Given the description of an element on the screen output the (x, y) to click on. 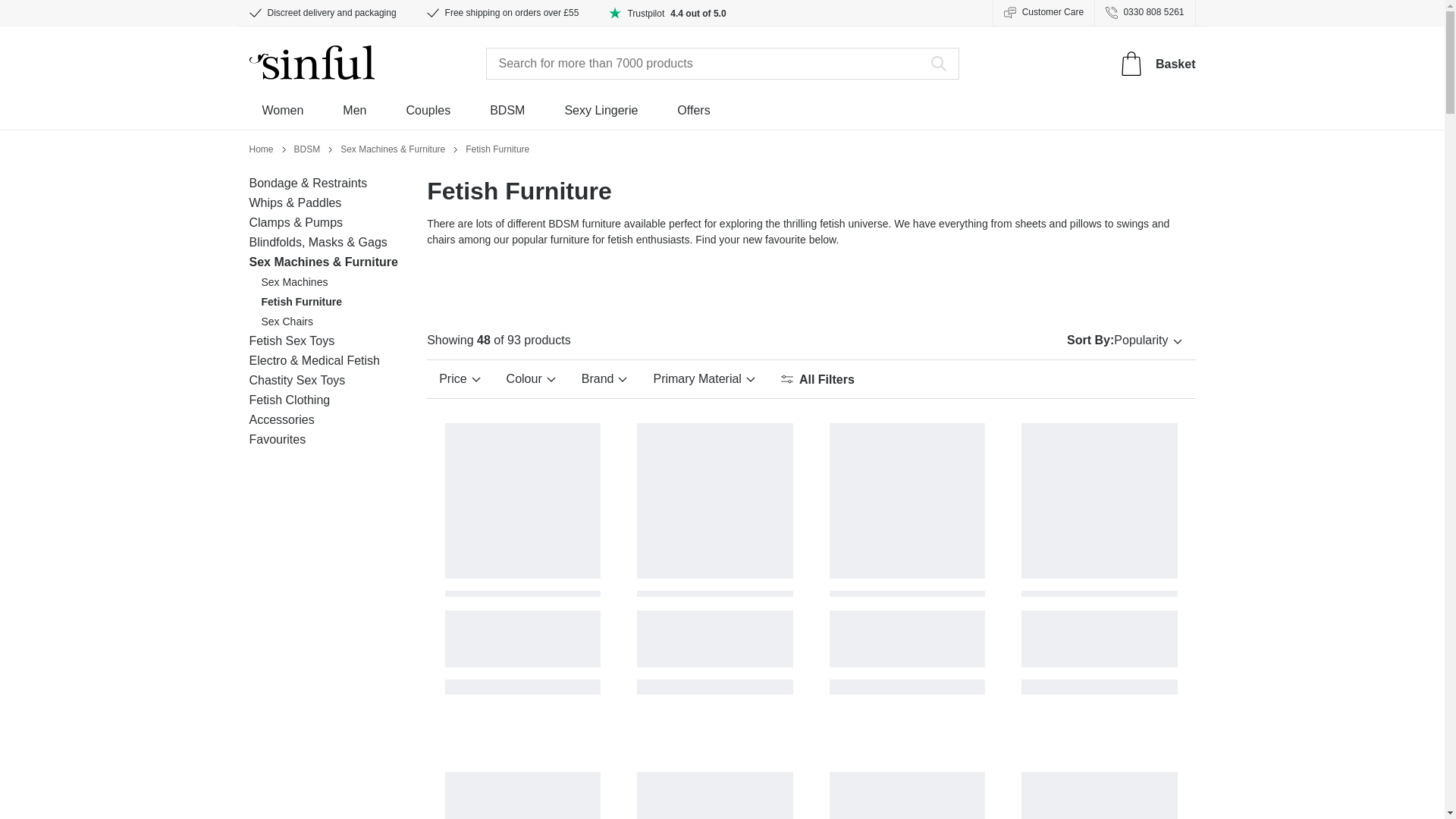
Chastity Sex Toys (296, 379)
Accessories (281, 419)
Women (283, 115)
Men (354, 115)
Fetish Furniture (301, 301)
Home (260, 147)
Sexy Lingerie (600, 115)
All Filters (817, 379)
Fetish Furniture (497, 147)
BDSM (307, 147)
